Given the description of an element on the screen output the (x, y) to click on. 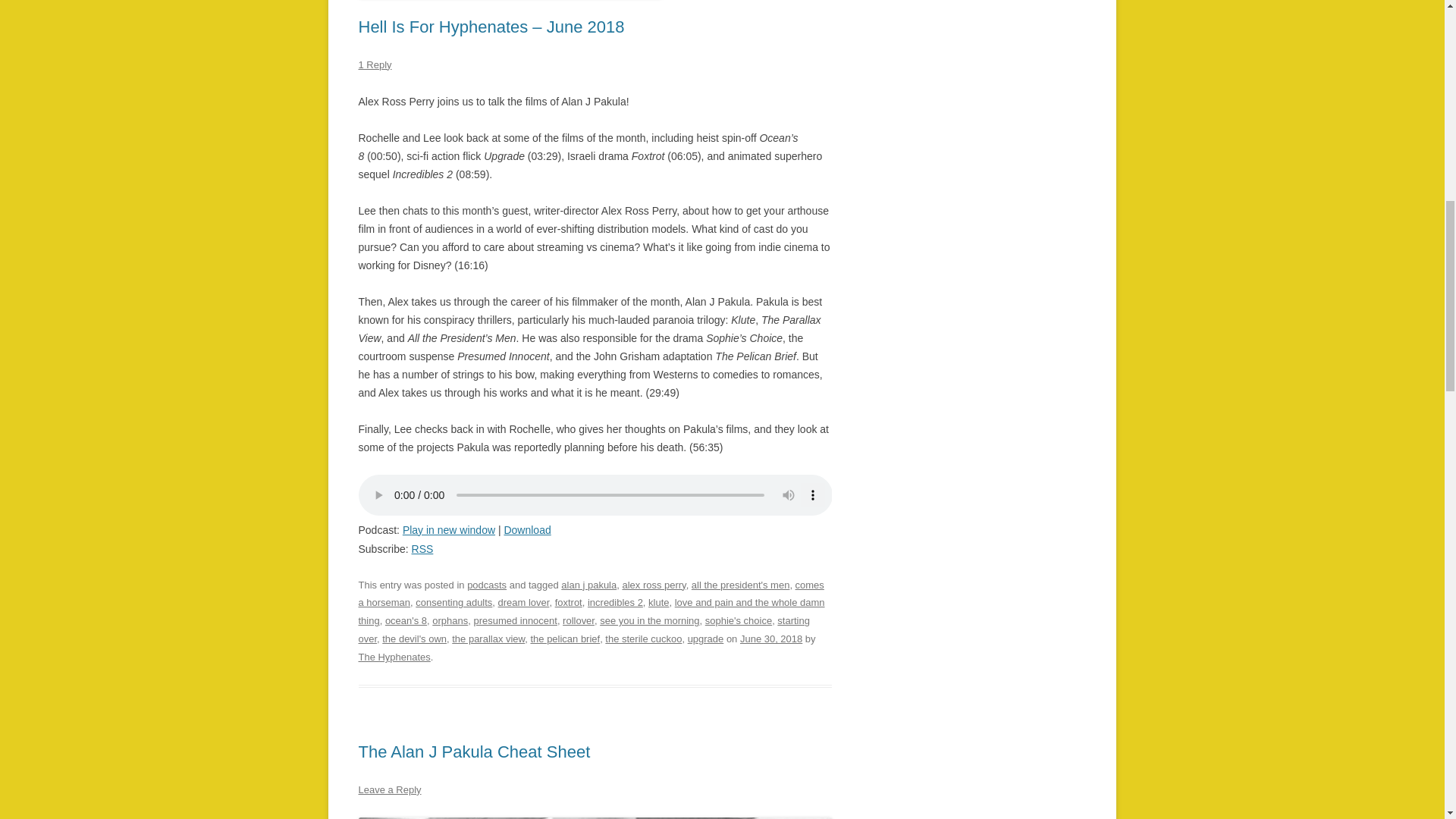
Subscribe via RSS (422, 548)
Download (526, 529)
foxtrot (568, 602)
consenting adults (453, 602)
the devil's own (413, 638)
all the president's men (740, 584)
love and pain and the whole damn thing (591, 611)
Play in new window (449, 529)
alan j pakula (587, 584)
starting over (583, 629)
